Given the description of an element on the screen output the (x, y) to click on. 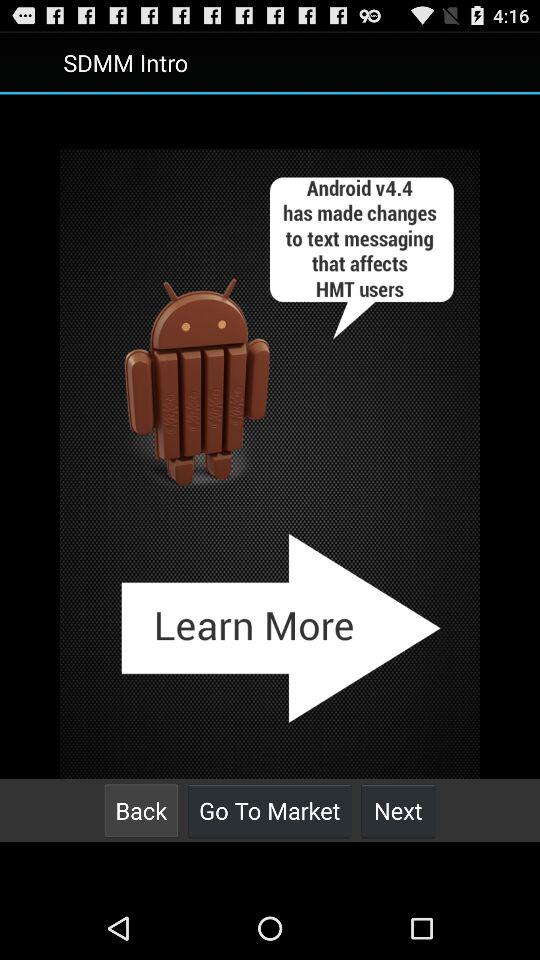
select icon next to go to market button (398, 810)
